Given the description of an element on the screen output the (x, y) to click on. 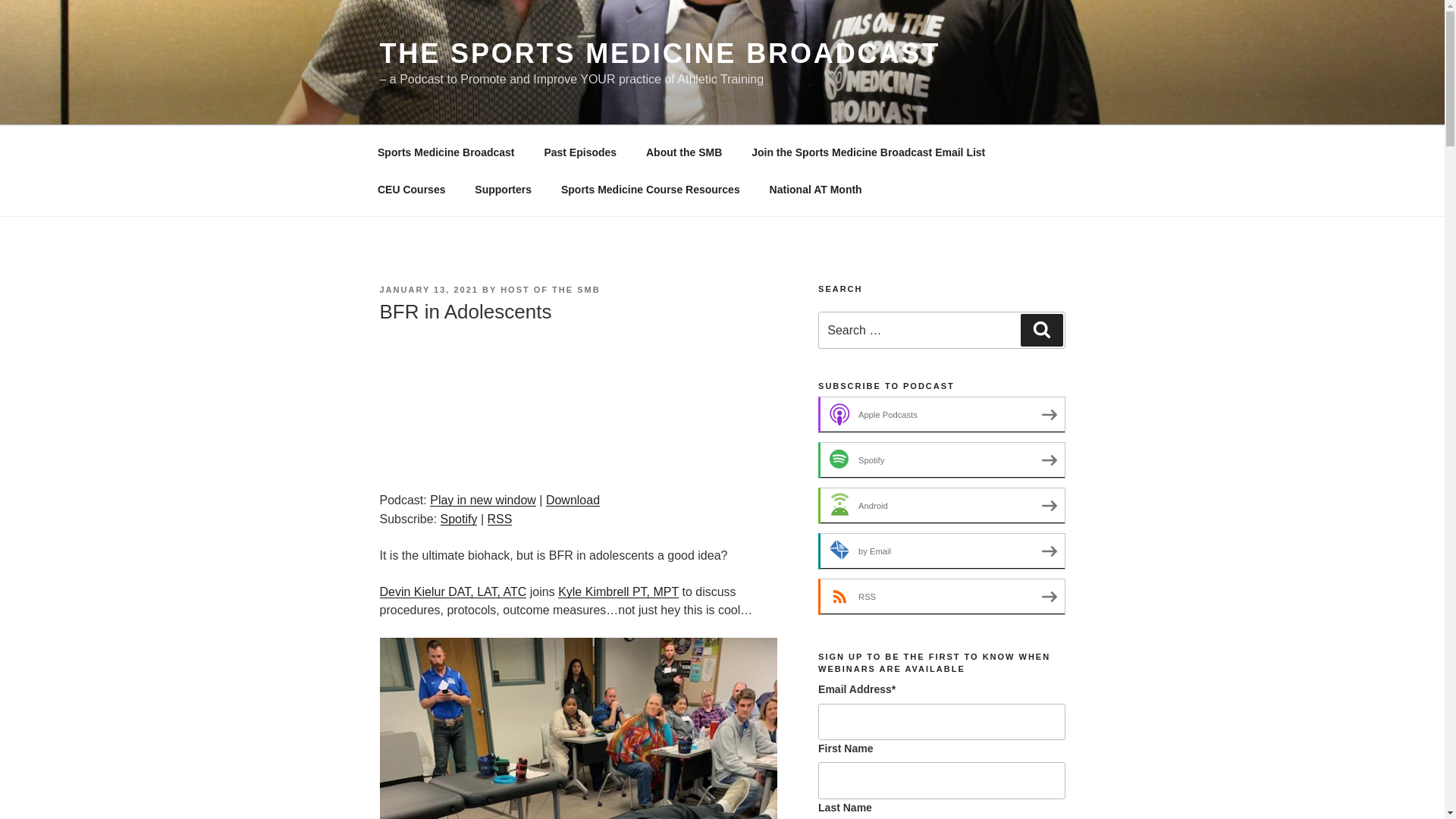
Join the Sports Medicine Broadcast Email List (868, 151)
Android (941, 505)
RSS (499, 518)
Spotify (941, 460)
Past Episodes (580, 151)
Subscribe on Apple Podcasts (941, 414)
Blubrry Podcast Player (577, 405)
Devin Kielur DAT, LAT, ATC (451, 591)
Supporters (502, 189)
Download (572, 499)
